Given the description of an element on the screen output the (x, y) to click on. 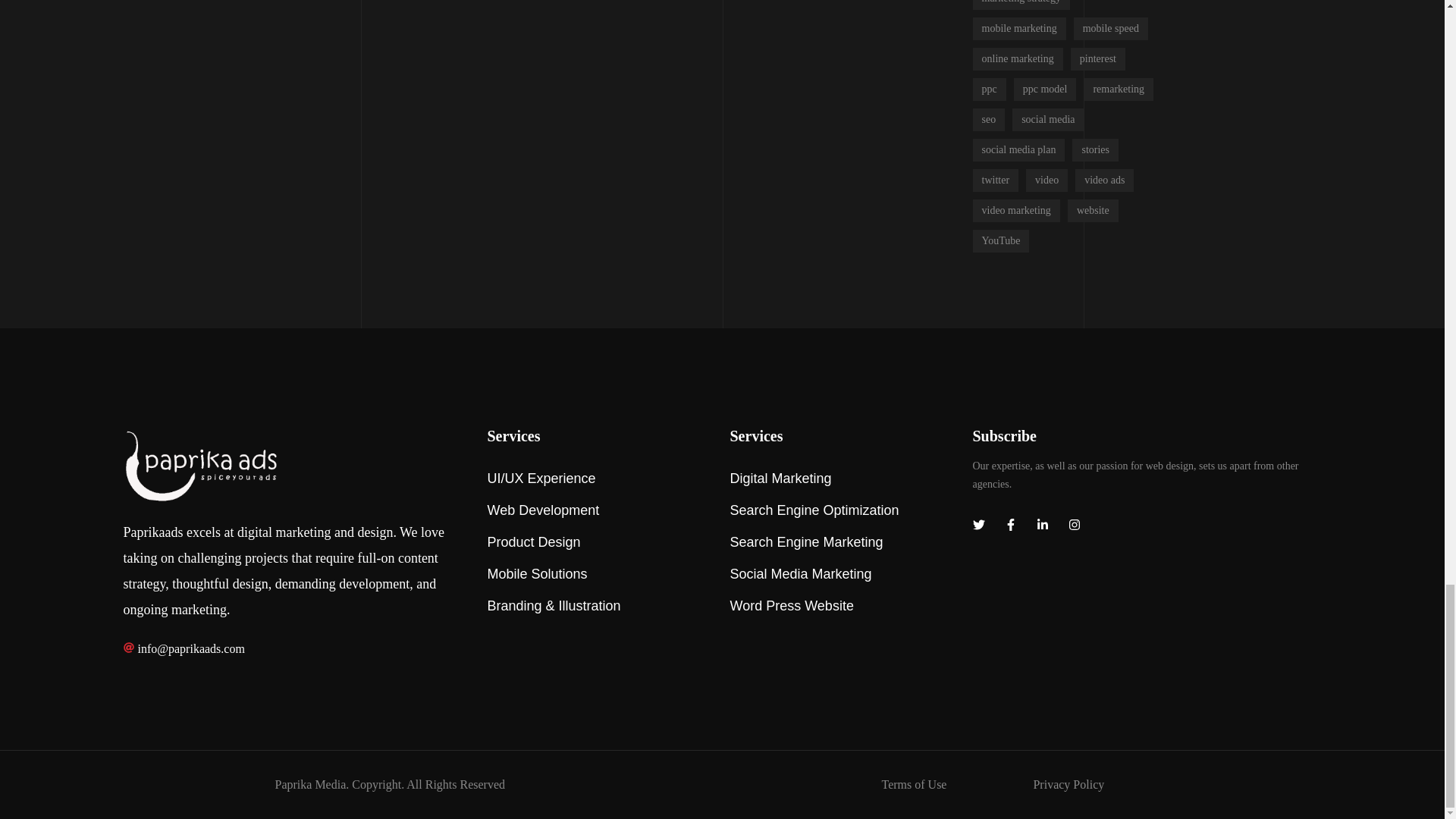
LinkeIn (1041, 524)
Instagram (1073, 524)
Facebook (1009, 524)
Twitter (978, 524)
